Given the description of an element on the screen output the (x, y) to click on. 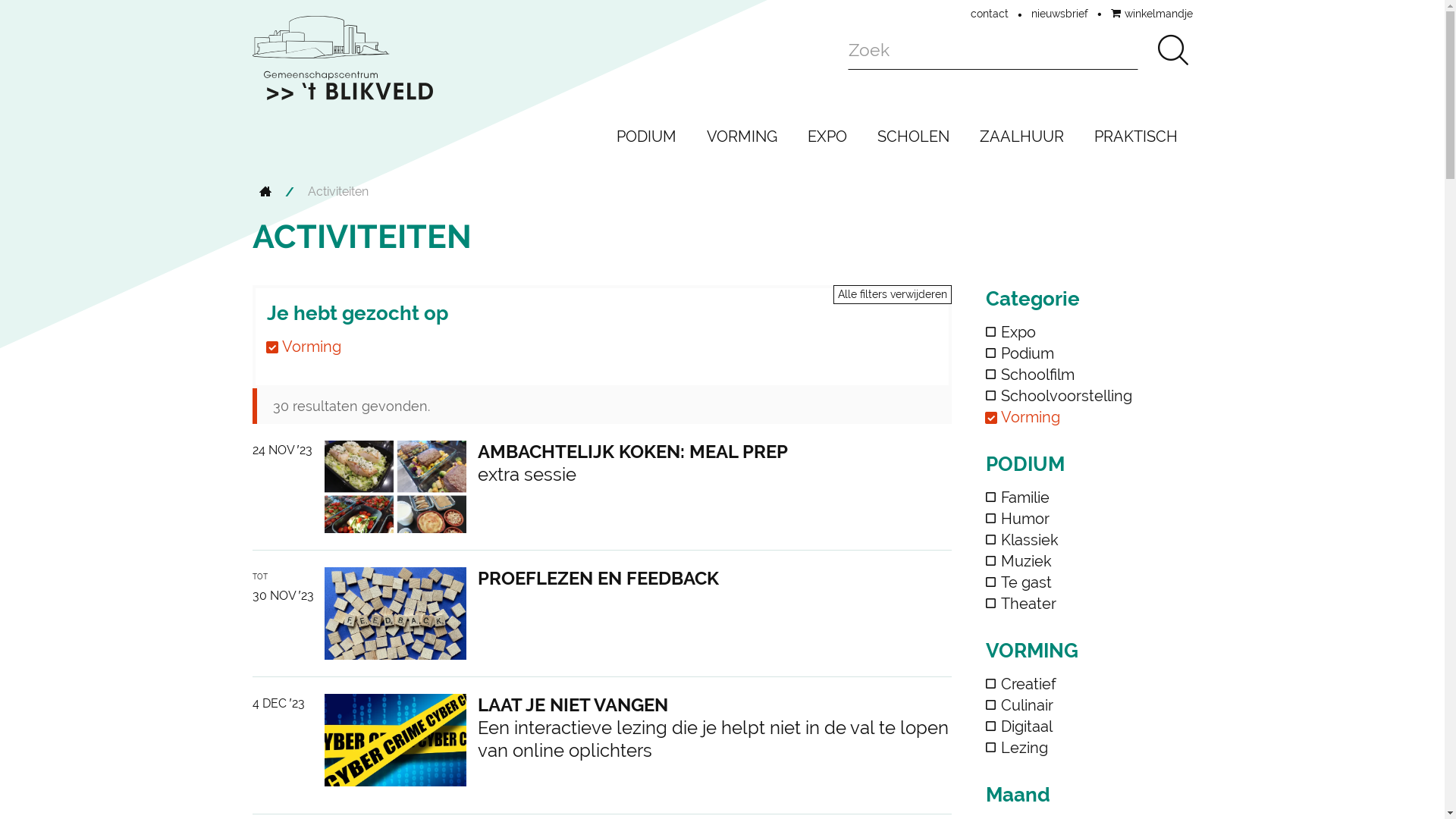
Alle filters verwijderen Element type: text (892, 294)
EXPO Element type: text (826, 136)
nieuwsbrief Element type: text (1059, 13)
Zoeken Element type: text (1172, 49)
VORMING Element type: text (741, 136)
Gemeenschapscentrum 't Blikveld Element type: text (341, 57)
winkelmandje Element type: text (1151, 13)
SCHOLEN Element type: text (912, 136)
PODIUM Element type: text (645, 136)
Home Element type: text (264, 192)
PRAKTISCH Element type: text (1135, 136)
contact Element type: text (989, 13)
ZAALHUUR Element type: text (1021, 136)
Zoek Element type: hover (992, 49)
